Given the description of an element on the screen output the (x, y) to click on. 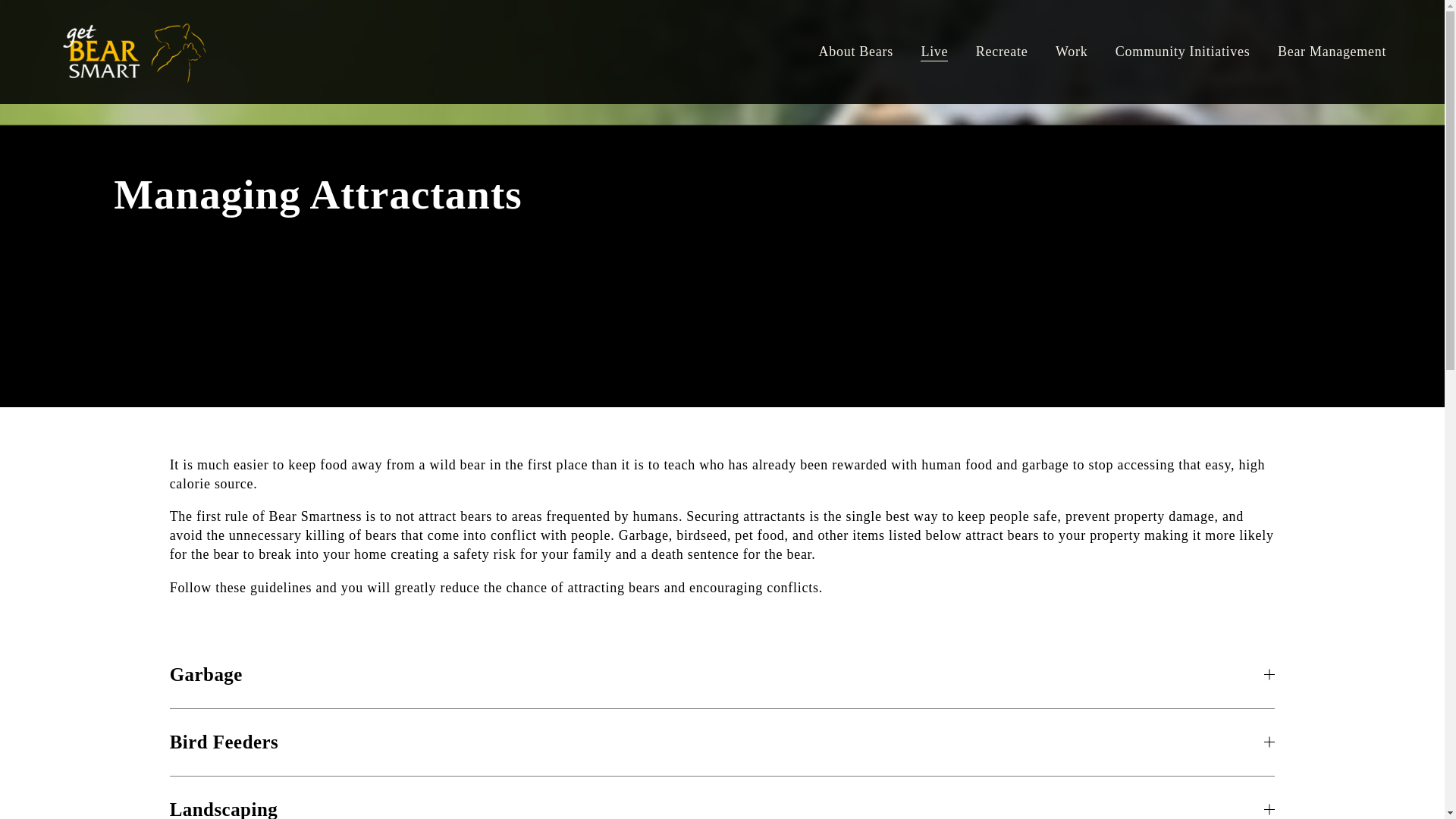
Recreate (1001, 51)
Work (1071, 51)
Bear Management (1332, 51)
About Bears (855, 51)
Community Initiatives (1182, 51)
Live (933, 51)
